Given the description of an element on the screen output the (x, y) to click on. 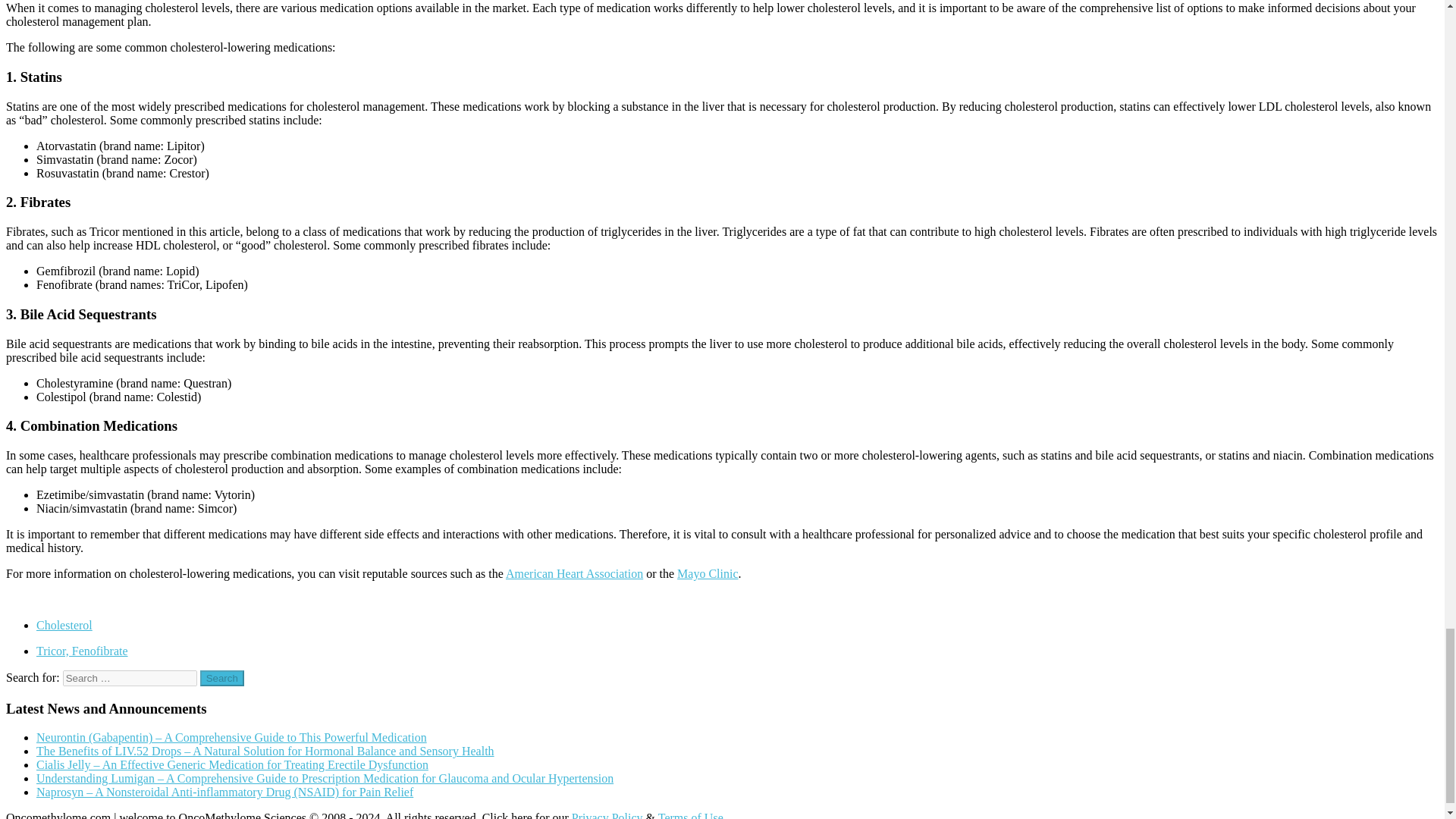
Search (222, 678)
Search (222, 678)
